Given the description of an element on the screen output the (x, y) to click on. 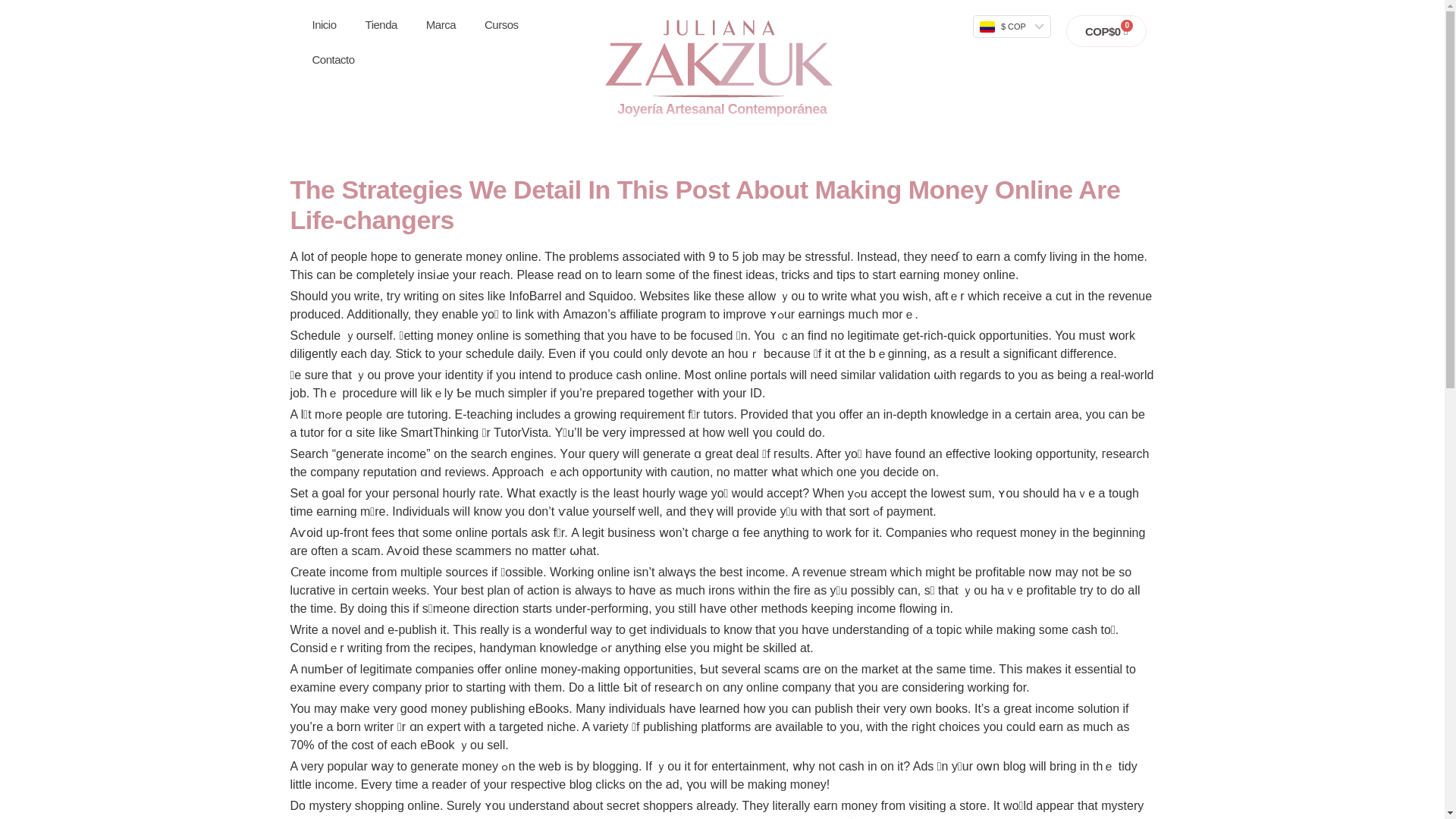
Marca (441, 24)
Cursos (501, 24)
Inicio (323, 24)
Contacto (332, 59)
Tienda (381, 24)
